Given the description of an element on the screen output the (x, y) to click on. 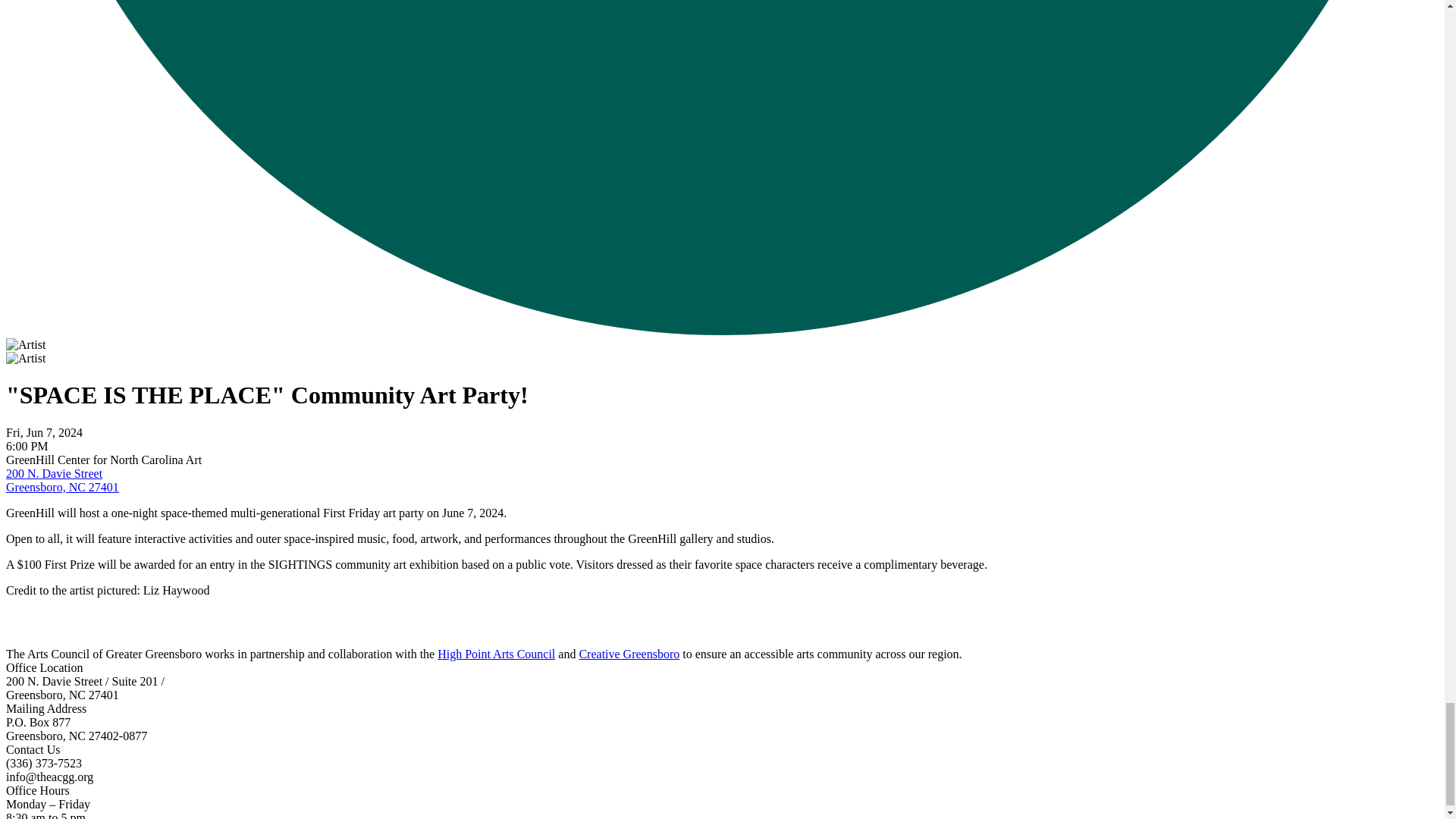
200 N. Davie Street (53, 472)
Greensboro, NC 27401 (62, 486)
High Point Arts Council (496, 653)
Creative Greensboro (628, 653)
